Given the description of an element on the screen output the (x, y) to click on. 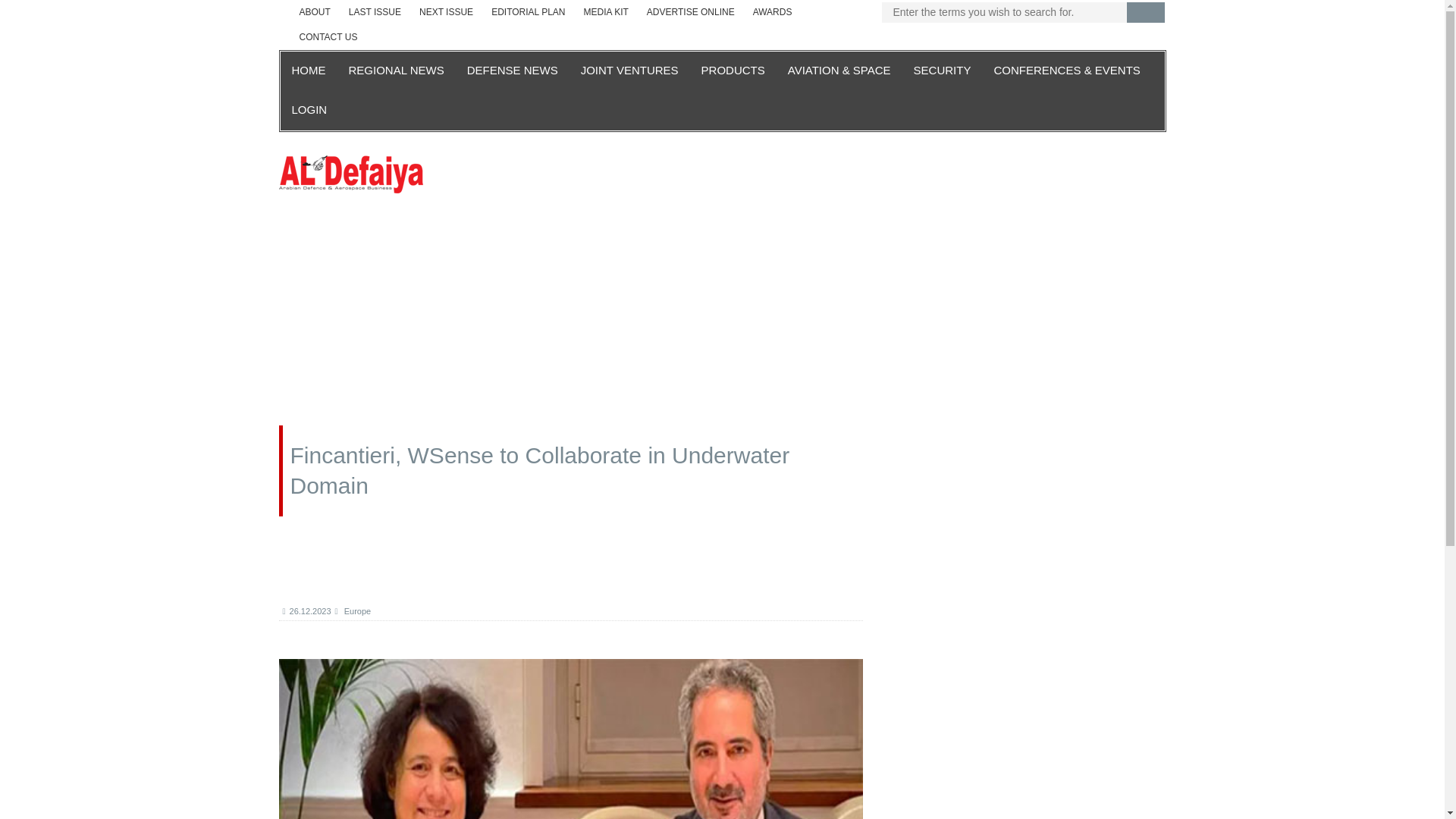
MEDIA KIT (606, 12)
JOINT VENTURES (629, 70)
REGIONAL NEWS (395, 70)
DEFENSE NEWS (512, 70)
HOME (309, 70)
LAST ISSUE (374, 12)
Home (351, 173)
SECURITY (942, 70)
LOGIN (310, 110)
EDITORIAL PLAN (527, 12)
AWARDS (773, 12)
ADVERTISE ONLINE (690, 12)
PRODUCTS (733, 70)
CONTACT US (327, 37)
Search (1145, 12)
